Given the description of an element on the screen output the (x, y) to click on. 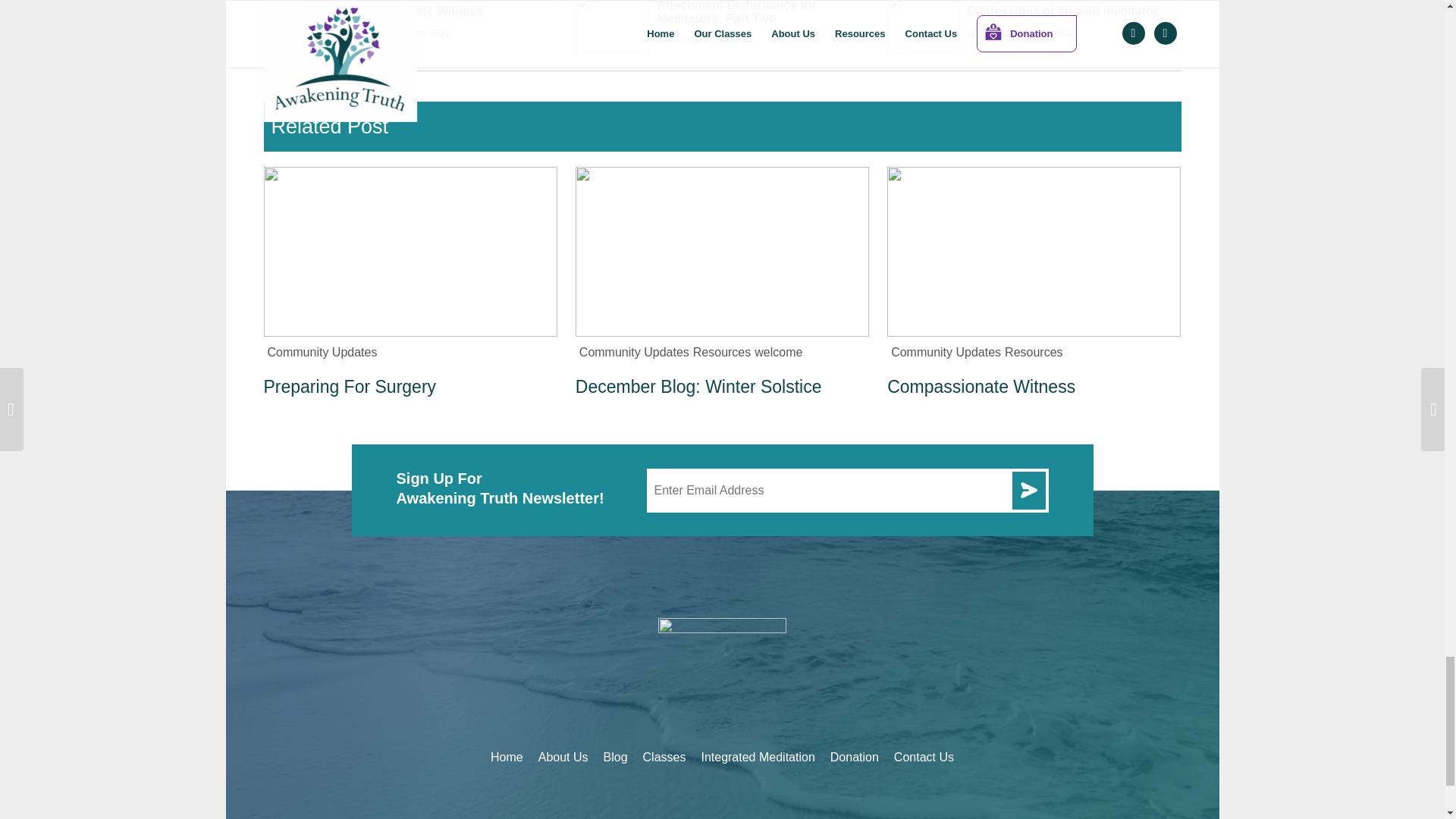
Attachment Disturbance for Meditators: Part Two (736, 12)
Compassionate Witness (412, 10)
